Given the description of an element on the screen output the (x, y) to click on. 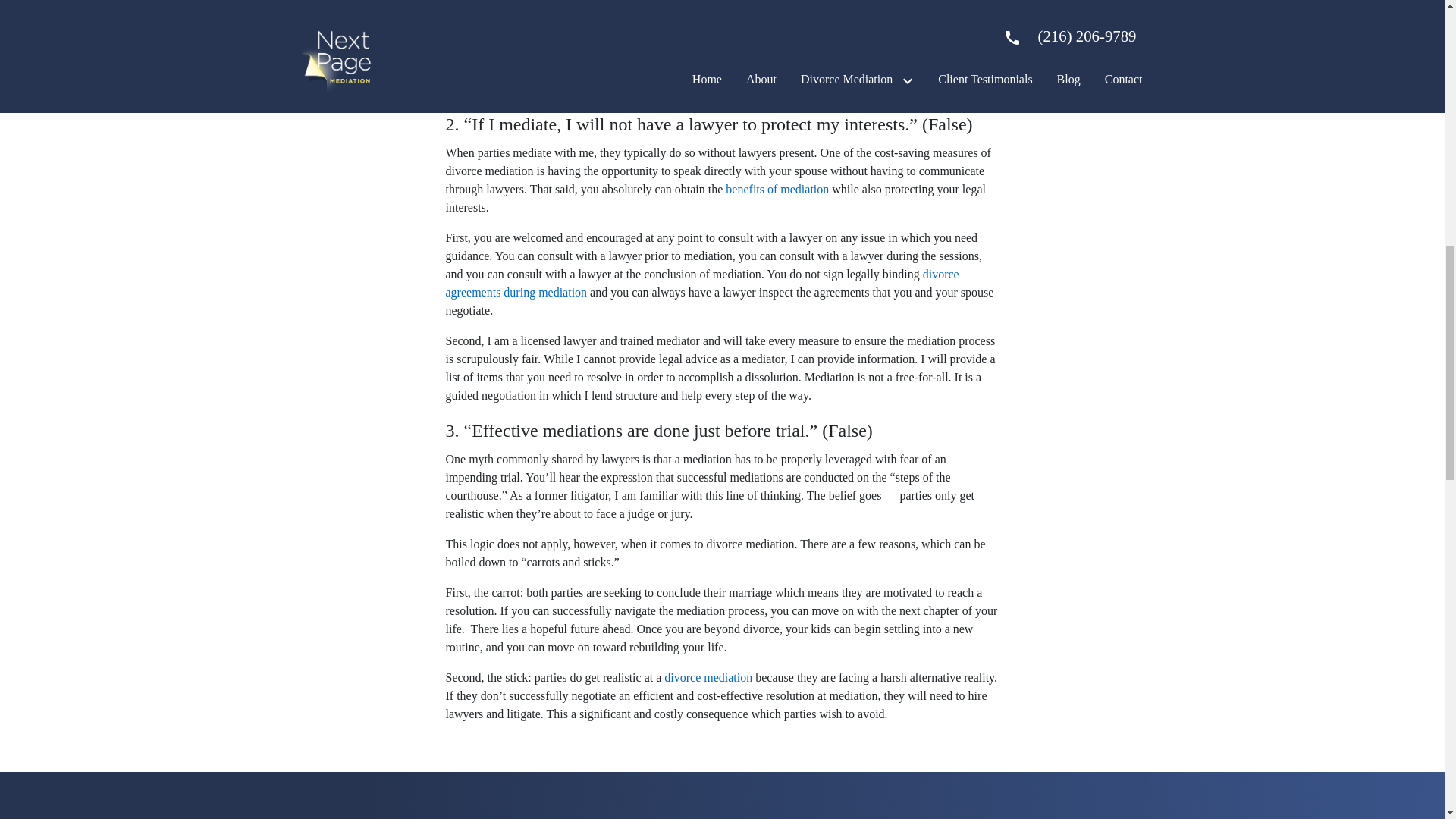
divorce agreements during mediation (702, 282)
benefits of mediation (776, 188)
divorce mediation (707, 676)
